Given the description of an element on the screen output the (x, y) to click on. 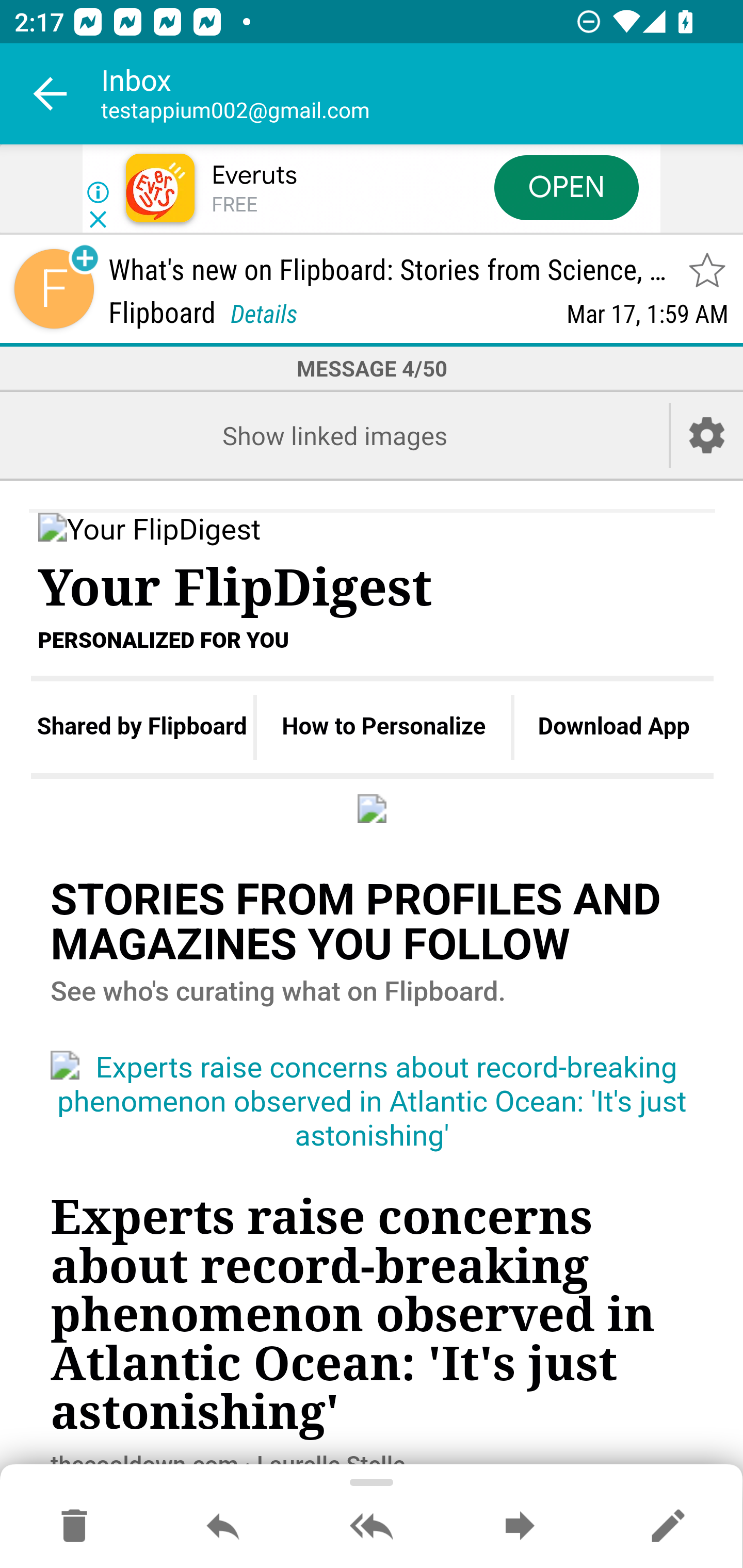
Navigate up (50, 93)
Inbox testappium002@gmail.com (422, 93)
OPEN (566, 187)
Everuts (253, 175)
FREE (234, 204)
Sender contact button (53, 289)
Show linked images (334, 435)
Account setup (706, 435)
Shared by Flipboard (141, 727)
How to Personalize (384, 727)
Download App (613, 727)
data: (372, 807)
Move to Deleted (74, 1527)
Reply (222, 1527)
Reply all (371, 1527)
Forward (519, 1527)
Reply as new (667, 1527)
